Given the description of an element on the screen output the (x, y) to click on. 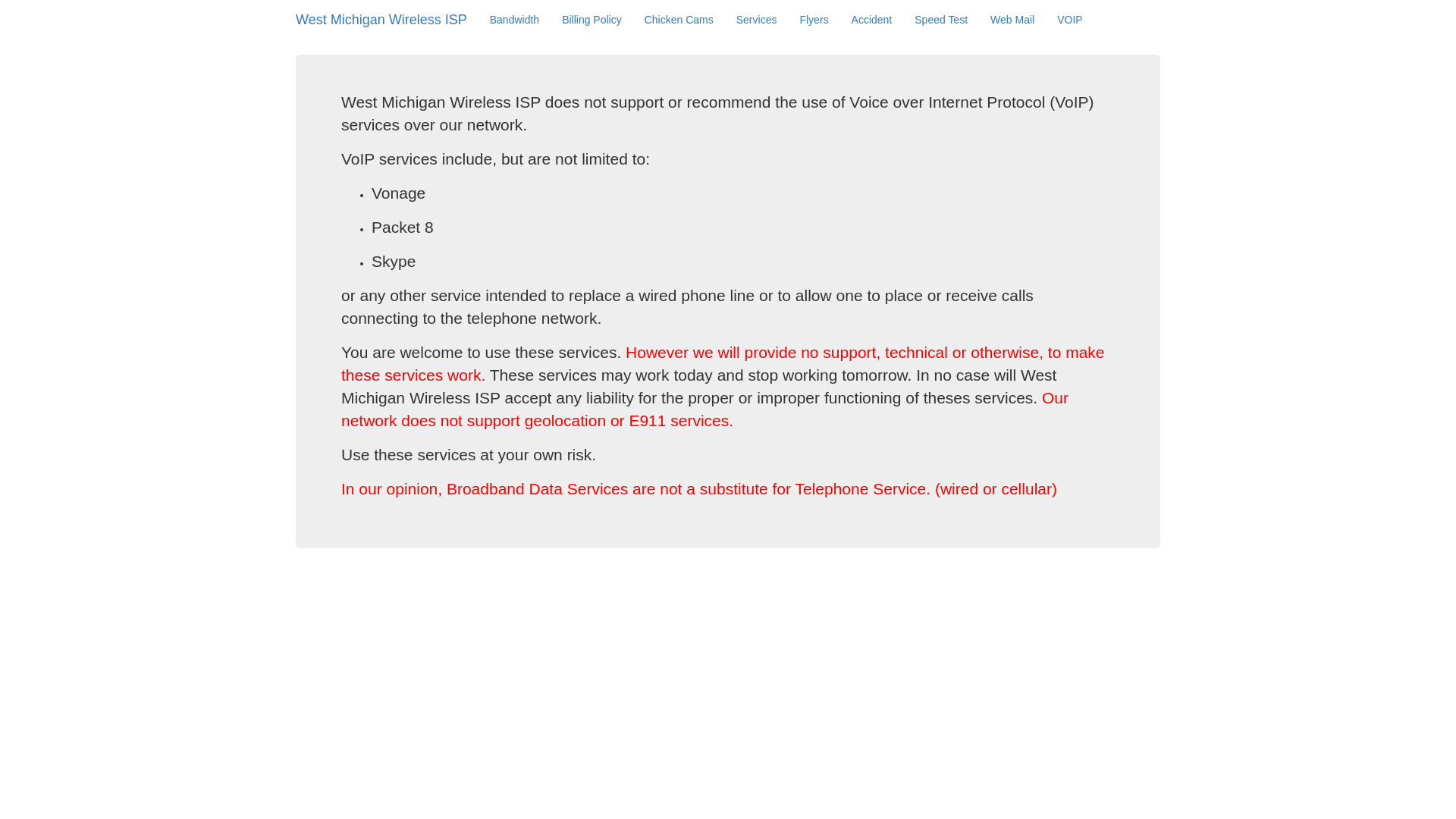
Billing Policy (591, 19)
Web Mail (1011, 19)
Services (757, 19)
West Michigan Wireless ISP (381, 19)
VOIP (1069, 19)
Chicken Cams (679, 19)
Bandwidth (514, 19)
Speed Test (940, 19)
Flyers (813, 19)
Accident (872, 19)
